Given the description of an element on the screen output the (x, y) to click on. 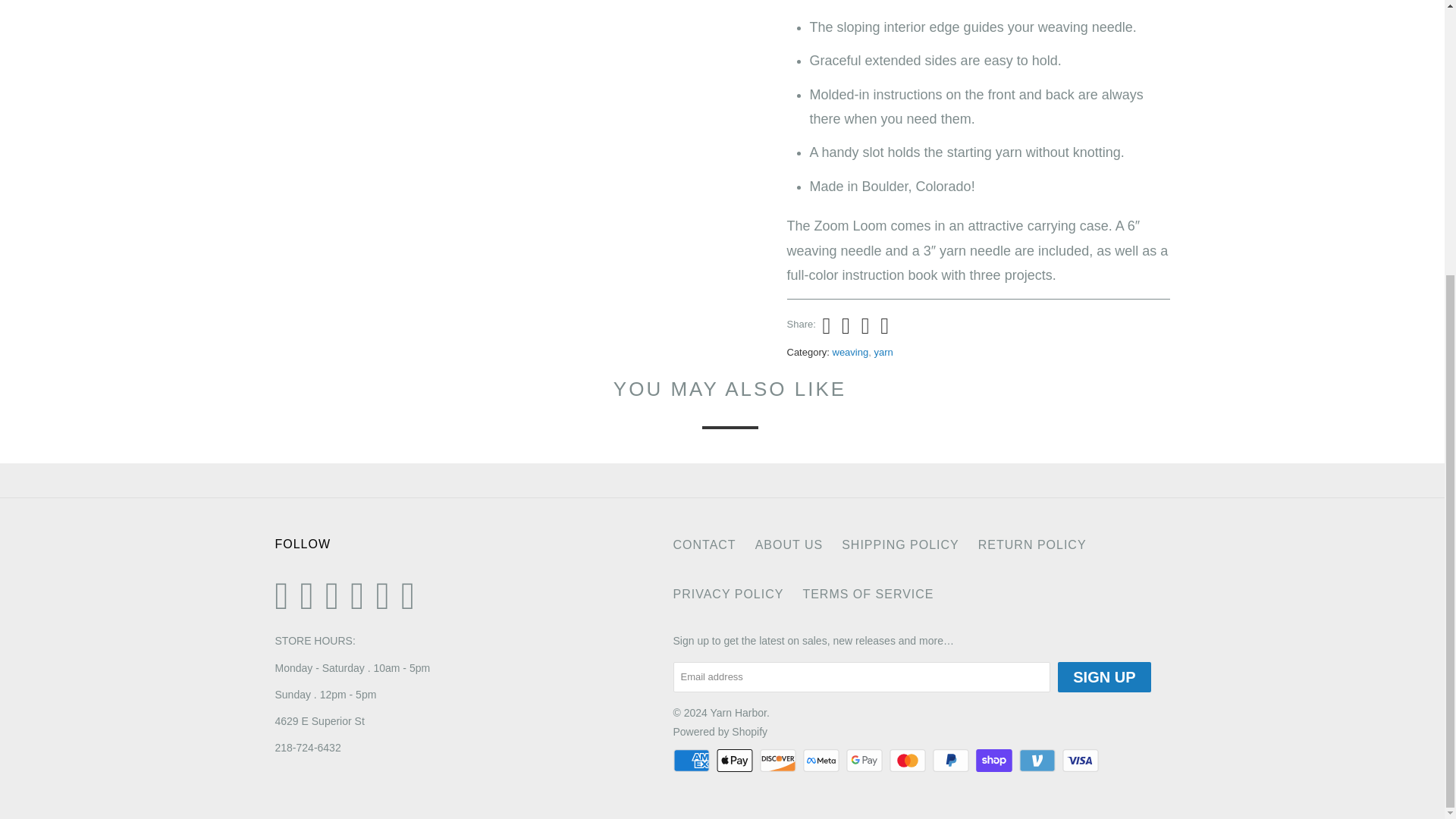
Products tagged yarn (882, 351)
Apple Pay (735, 760)
Sign Up (1104, 676)
Mastercard (908, 760)
American Express (692, 760)
Shop Pay (994, 760)
PayPal (952, 760)
Discover (779, 760)
Venmo (1038, 760)
Meta Pay (823, 760)
Products tagged weaving (850, 351)
Visa (1082, 760)
Google Pay (865, 760)
